Given the description of an element on the screen output the (x, y) to click on. 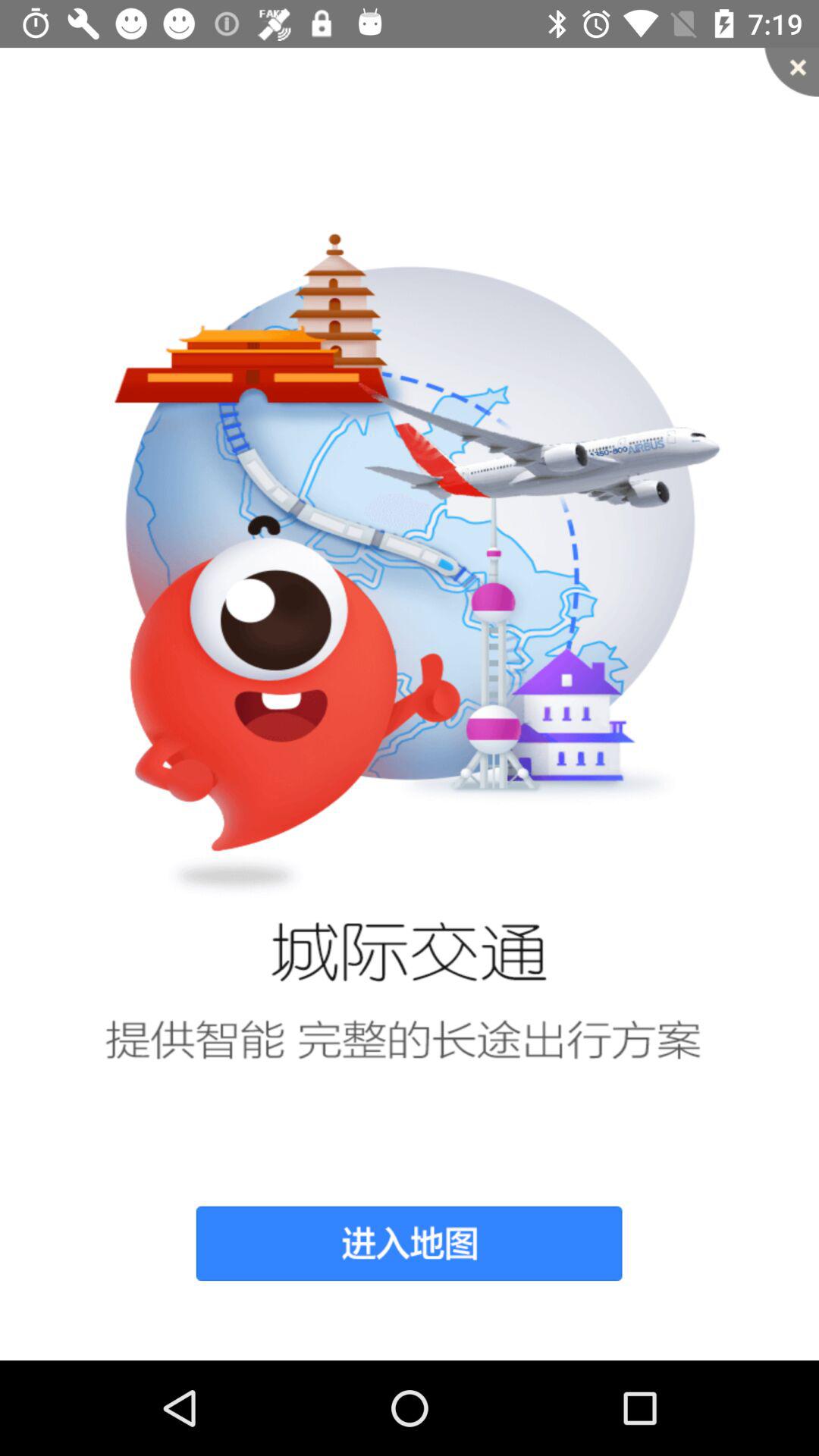
leave page (791, 71)
